Given the description of an element on the screen output the (x, y) to click on. 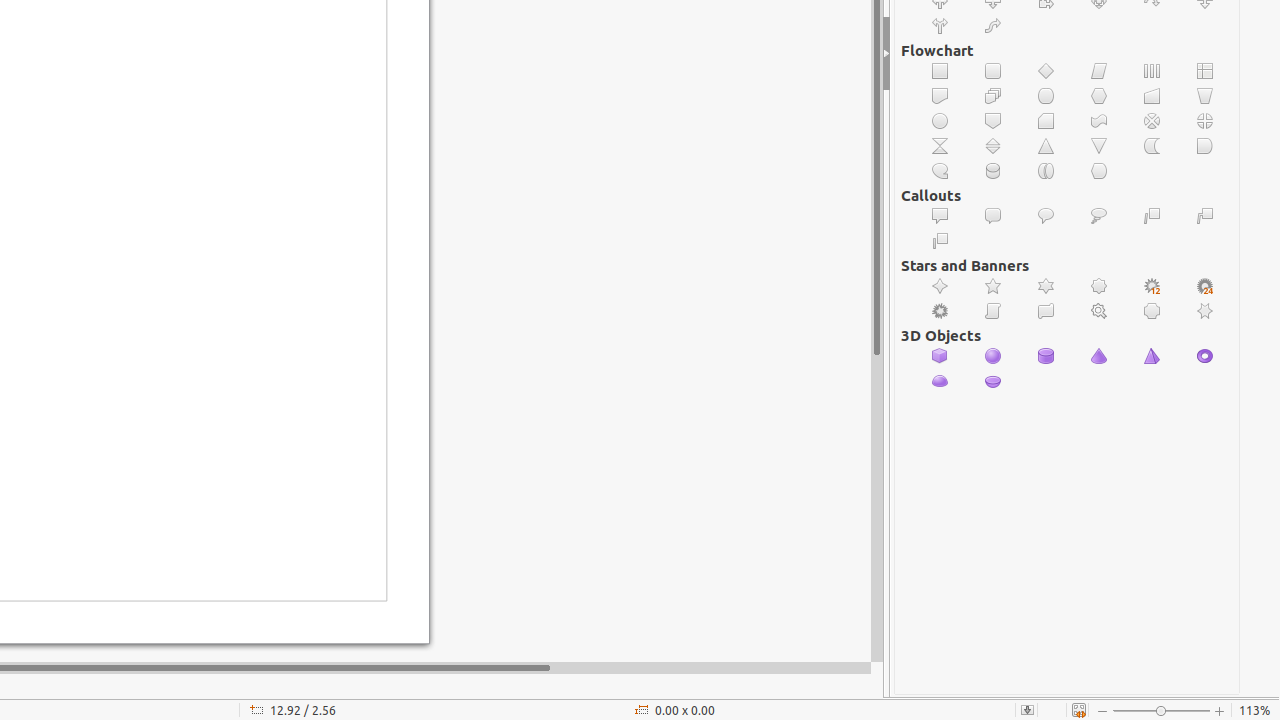
Flowchart: Display Element type: list-item (1099, 171)
Explosion Element type: list-item (940, 311)
6-Point Star Element type: list-item (1046, 286)
Flowchart: Extract Element type: list-item (1046, 146)
Cloud Element type: list-item (1099, 216)
